Given the description of an element on the screen output the (x, y) to click on. 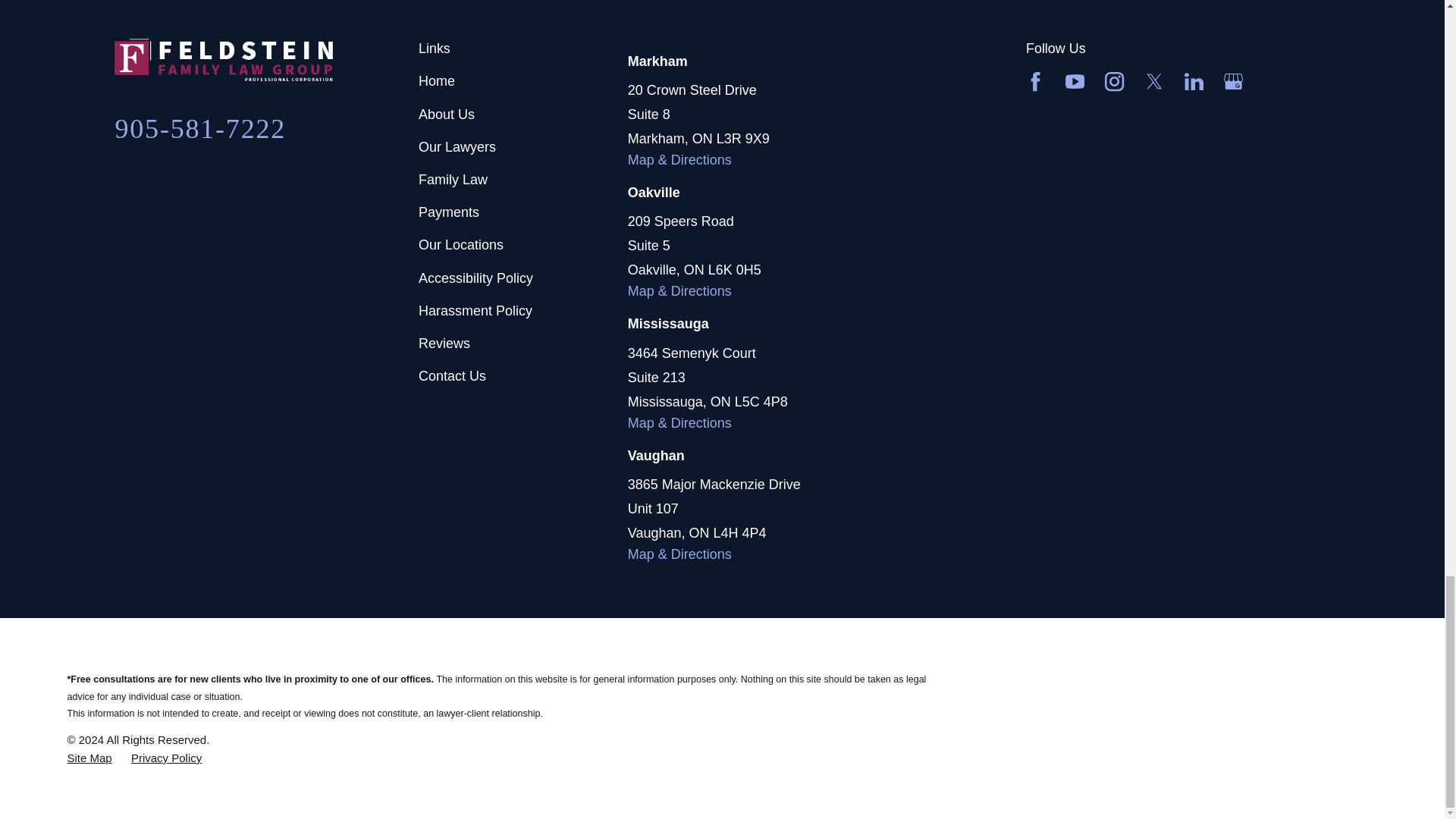
Home (267, 59)
